Given the description of an element on the screen output the (x, y) to click on. 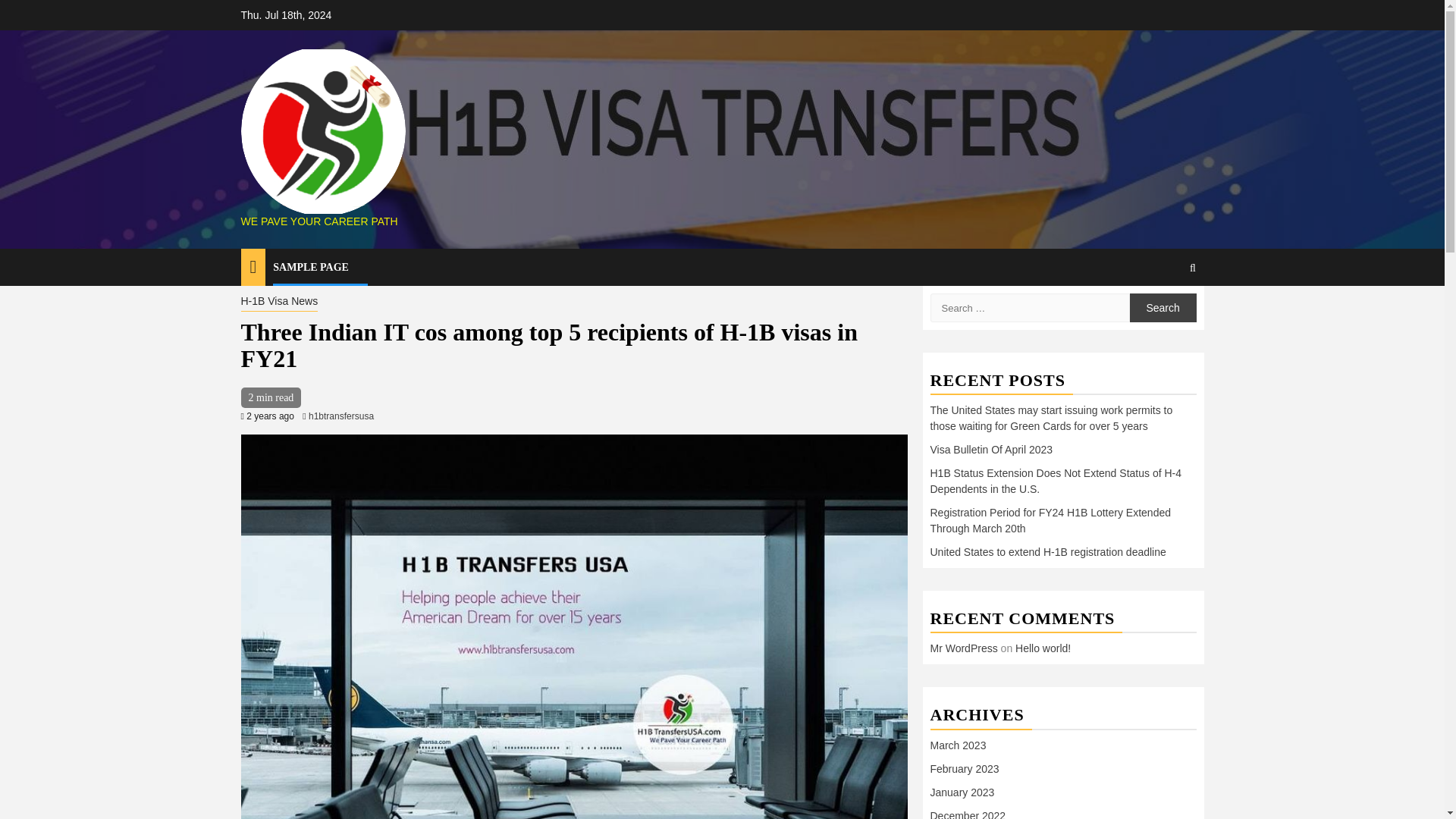
H-1B Visa News (279, 302)
SAMPLE PAGE (311, 266)
h1btransfersusa (341, 416)
Search (1163, 312)
Search (1162, 307)
Search (1162, 307)
